Given the description of an element on the screen output the (x, y) to click on. 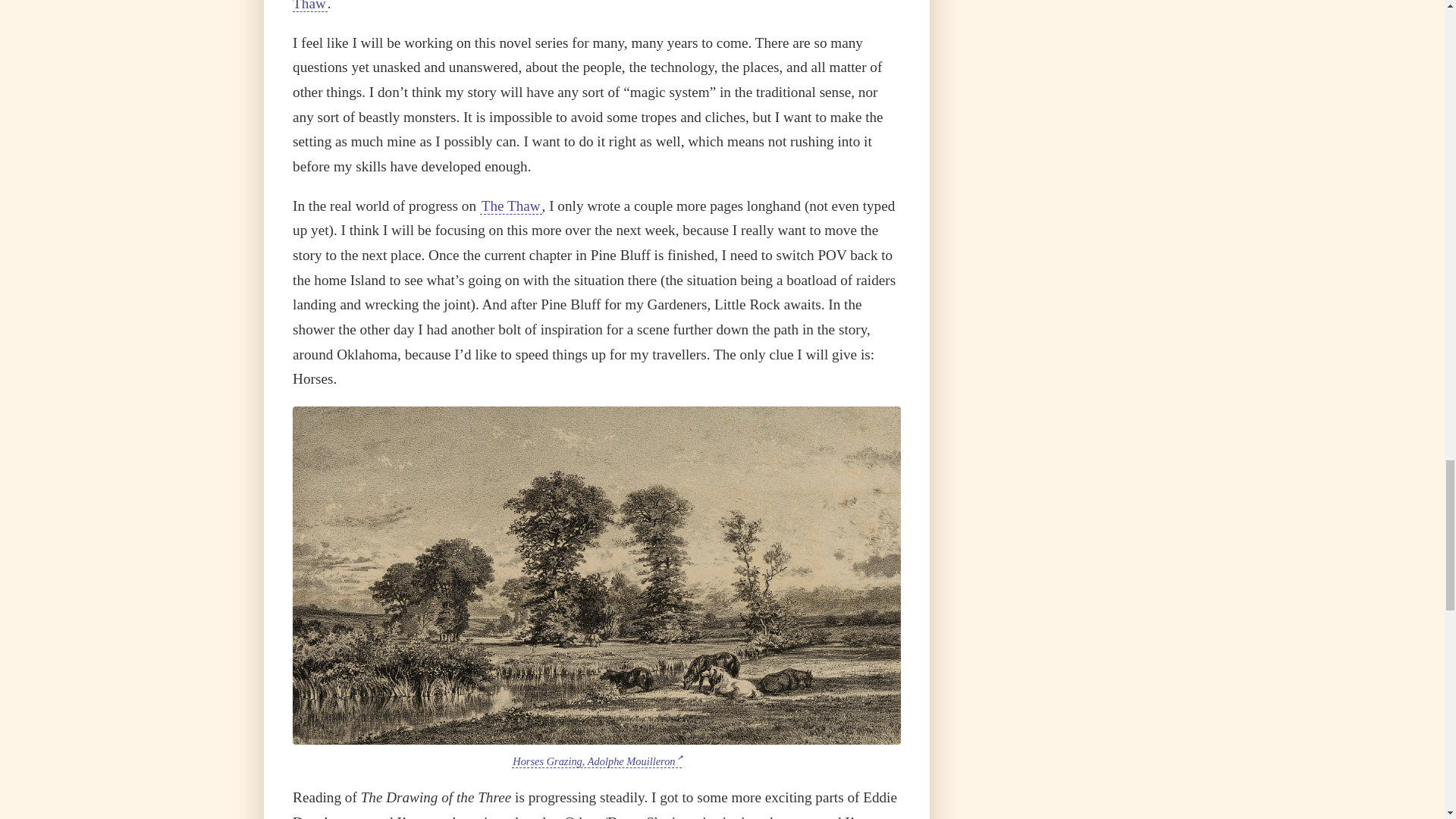
The Thaw (510, 206)
The Thaw (587, 6)
Horses Grazing, Adolphe Mouilleron (596, 761)
